Given the description of an element on the screen output the (x, y) to click on. 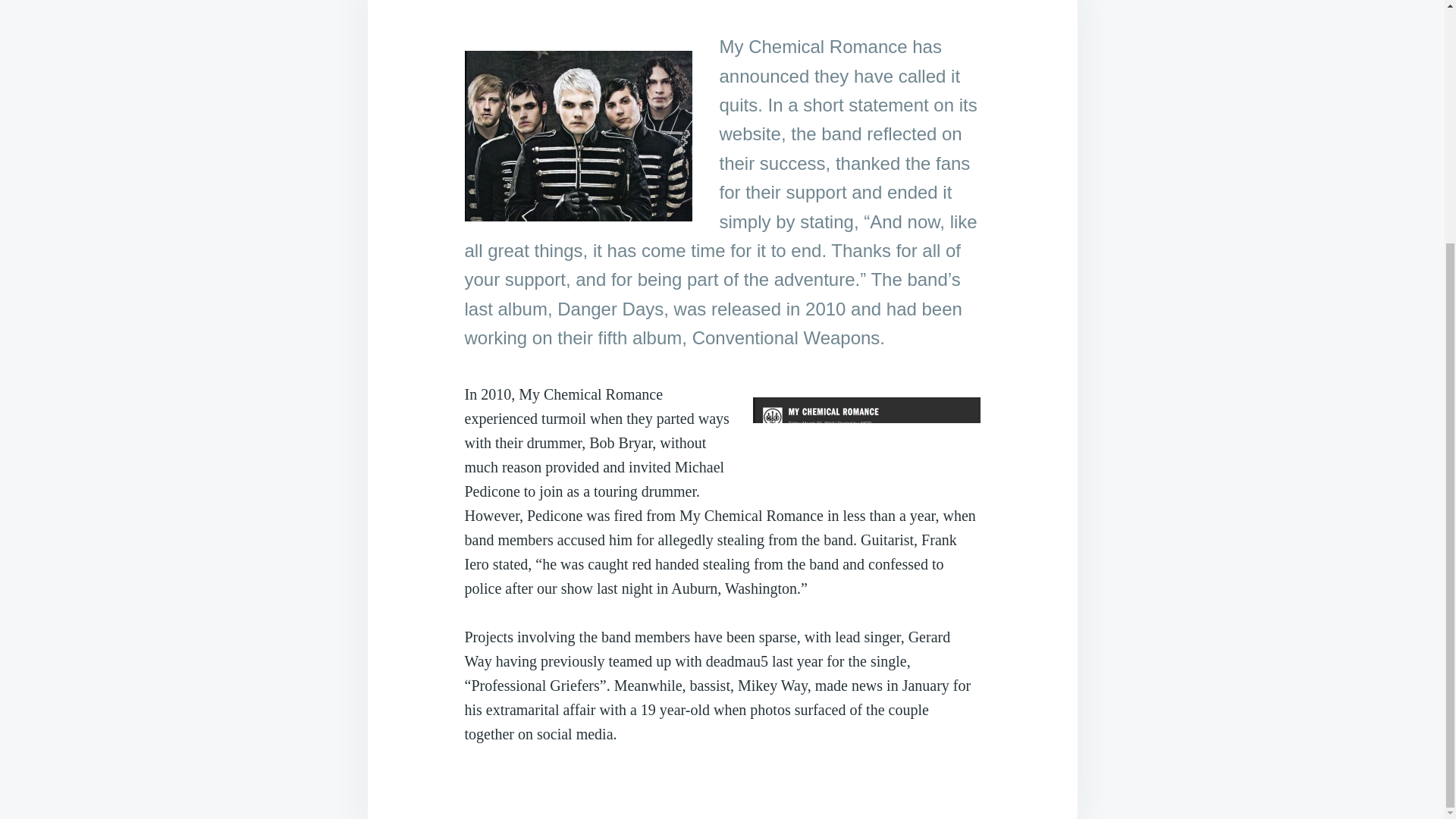
my-chemical-romance (577, 135)
Screen Shot 2013-03-22 at 8.54.45 PM (865, 435)
